Given the description of an element on the screen output the (x, y) to click on. 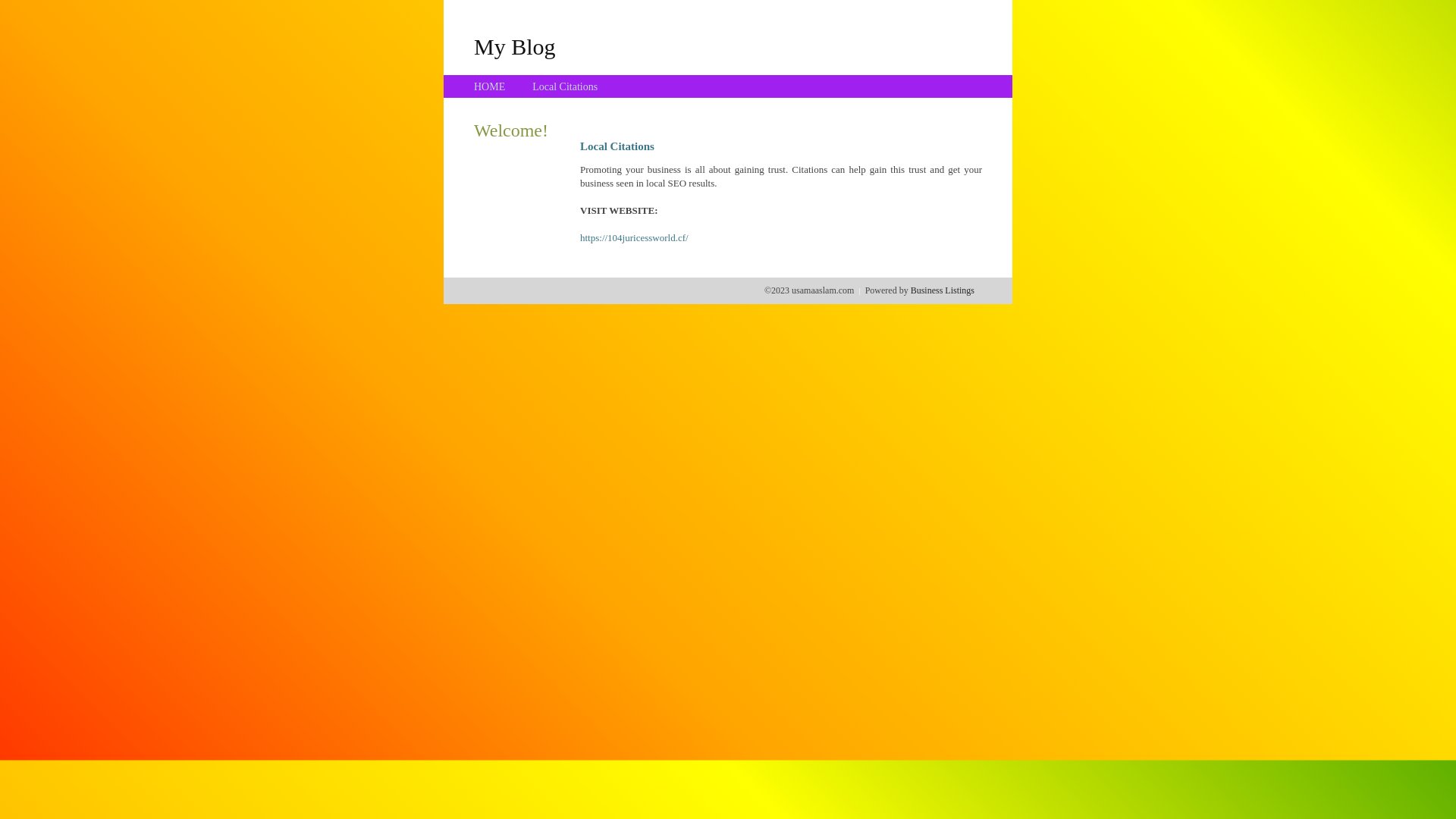
My Blog Element type: text (514, 46)
https://104juricessworld.cf/ Element type: text (634, 237)
Business Listings Element type: text (942, 290)
Local Citations Element type: text (564, 86)
HOME Element type: text (489, 86)
